Given the description of an element on the screen output the (x, y) to click on. 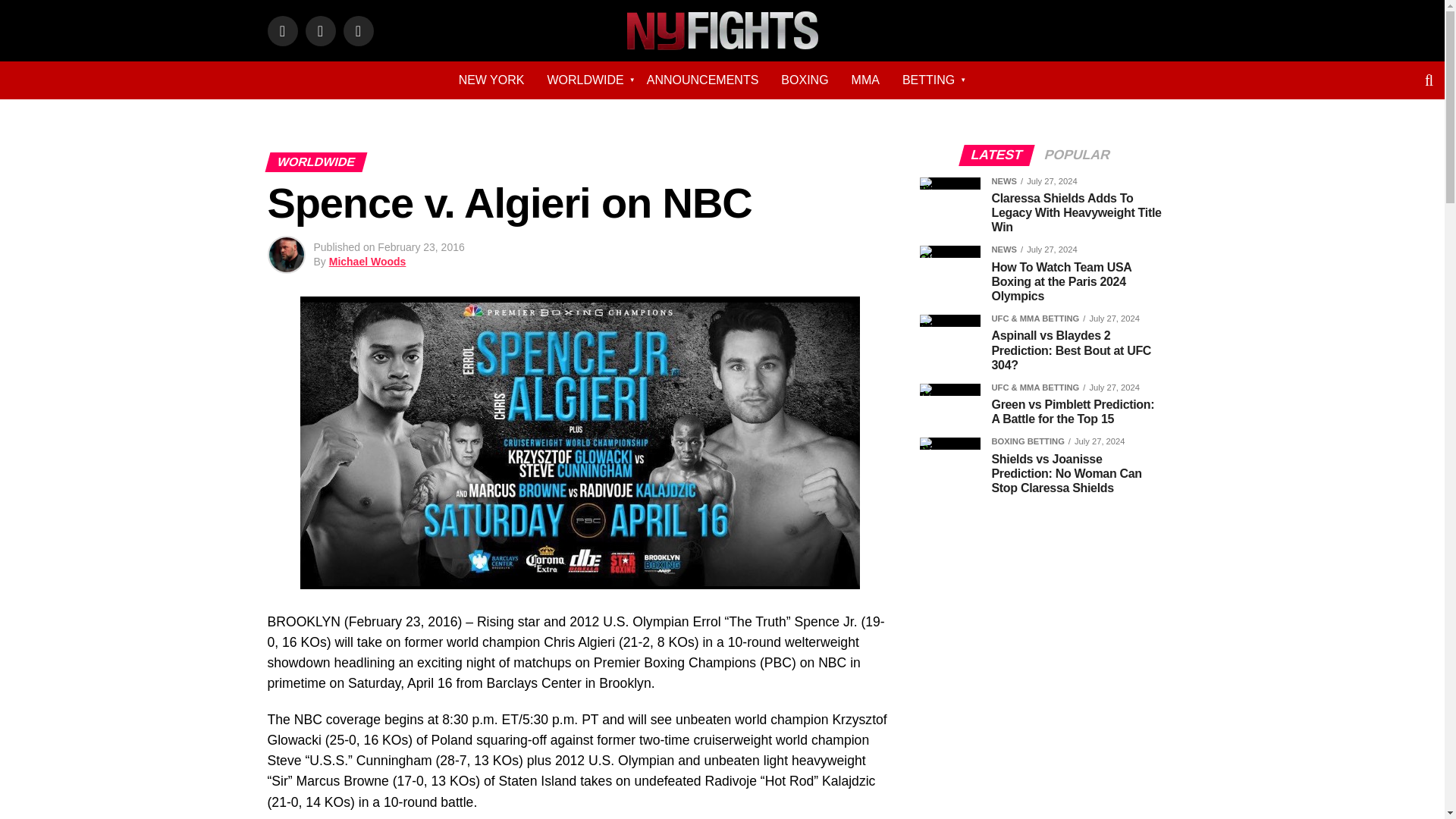
BOXING (805, 80)
ANNOUNCEMENTS (702, 80)
NEW YORK (490, 80)
WORLDWIDE (584, 80)
BETTING (928, 80)
MMA (865, 80)
